Given the description of an element on the screen output the (x, y) to click on. 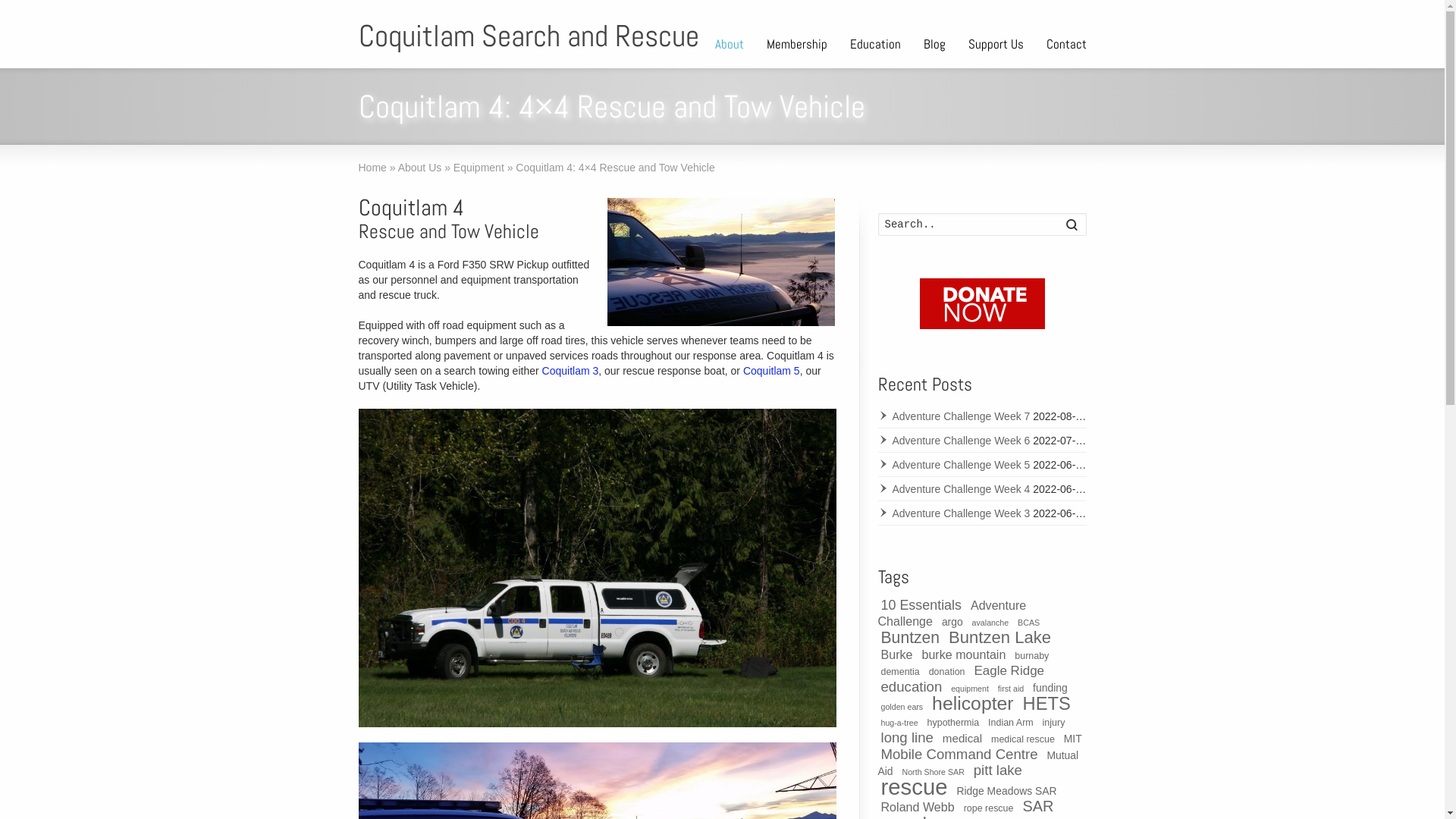
MIT Element type: text (1072, 738)
Home Element type: text (371, 167)
Support Us Element type: text (996, 45)
Adventure Challenge Week 3 Element type: text (954, 513)
Membership Element type: text (796, 45)
helicopter Element type: text (972, 703)
Equipment Element type: text (478, 167)
Burke Element type: text (897, 654)
Contact Element type: text (1065, 45)
10 Essentials Element type: text (921, 605)
Adventure Challenge Week 6 Element type: text (954, 440)
Adventure Challenge Element type: text (952, 612)
Search Element type: text (1070, 225)
Ridge Meadows SAR Element type: text (1006, 790)
HETS Element type: text (1046, 703)
hypothermia Element type: text (953, 722)
long line Element type: text (907, 737)
SAR Element type: text (1037, 805)
Adventure Challenge Week 7 Element type: text (954, 416)
dementia Element type: text (900, 671)
About Us Element type: text (420, 167)
avalanche Element type: text (990, 622)
medical Element type: text (962, 738)
rope rescue Element type: text (988, 808)
Mutual Aid Element type: text (978, 762)
argo Element type: text (952, 621)
education Element type: text (911, 686)
Coquitlam 5 Element type: text (771, 370)
BCAS Element type: text (1028, 622)
North Shore SAR Element type: text (933, 771)
Adventure Challenge Week 4 Element type: text (954, 489)
burke mountain Element type: text (963, 654)
equipment Element type: text (969, 688)
first aid Element type: text (1010, 688)
Coquitlam 3 Element type: text (570, 370)
Education Element type: text (875, 45)
Indian Arm Element type: text (1010, 722)
Mobile Command Centre Element type: text (959, 753)
hug-a-tree Element type: text (899, 722)
Roland Webb Element type: text (917, 806)
Blog Element type: text (933, 45)
Adventure Challenge Week 5 Element type: text (954, 464)
About Element type: text (729, 45)
injury Element type: text (1053, 722)
pitt lake Element type: text (997, 769)
Coquitlam Search and Rescue Element type: text (527, 36)
medical rescue Element type: text (1022, 739)
golden ears Element type: text (902, 706)
rescue Element type: text (914, 786)
Donate to Coquitlam SAR Element type: hover (981, 303)
Eagle Ridge Element type: text (1008, 670)
donation Element type: text (946, 671)
Buntzen Element type: text (910, 637)
funding Element type: text (1049, 687)
burnaby Element type: text (1031, 655)
Buntzen Lake Element type: text (999, 637)
